Given the description of an element on the screen output the (x, y) to click on. 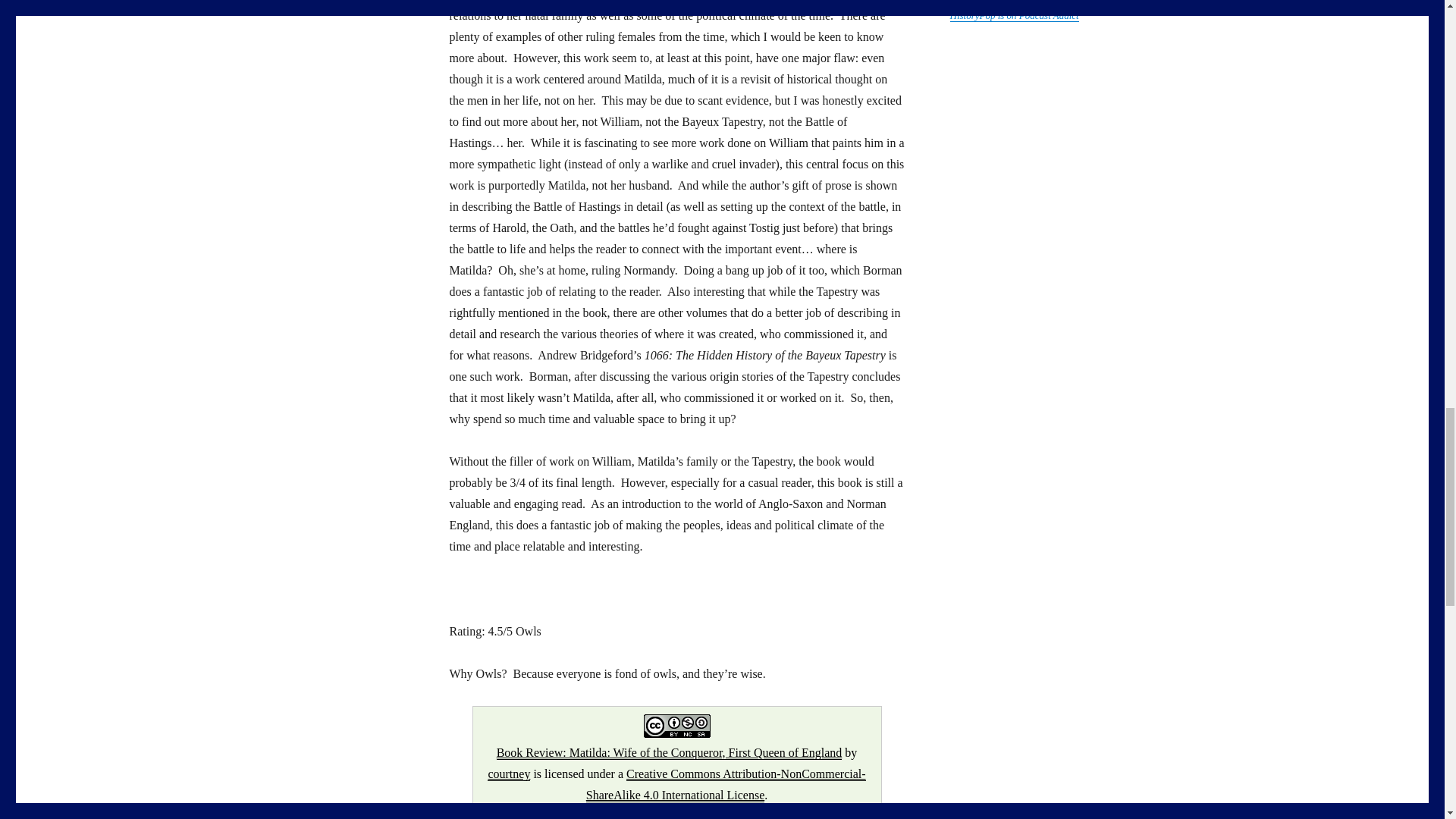
courtney (508, 773)
